Given the description of an element on the screen output the (x, y) to click on. 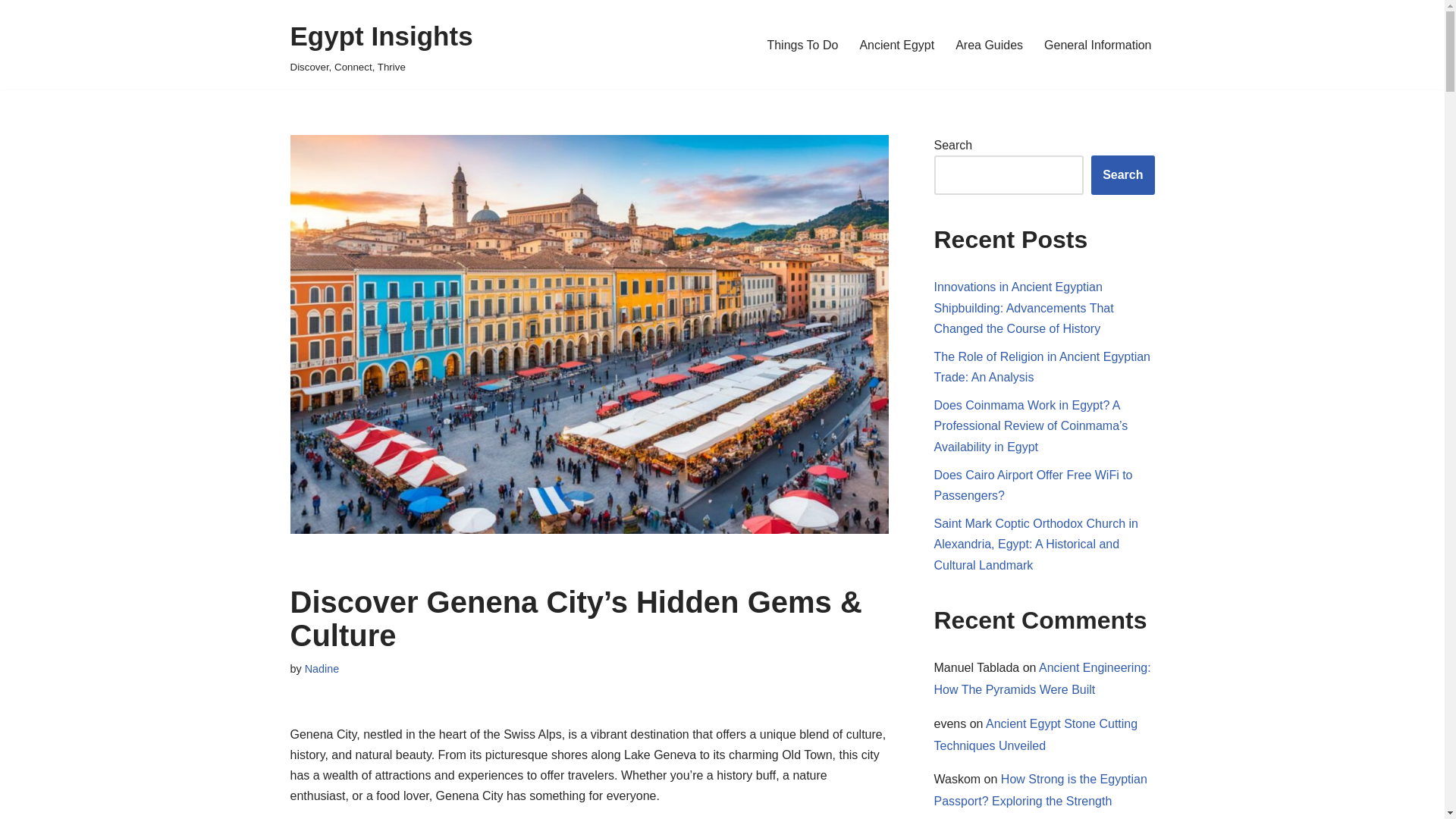
Nadine (321, 668)
Skip to content (11, 31)
General Information (1097, 45)
Area Guides (380, 44)
Posts by Nadine (989, 45)
Things To Do (321, 668)
Navigation Menu (802, 45)
